Given the description of an element on the screen output the (x, y) to click on. 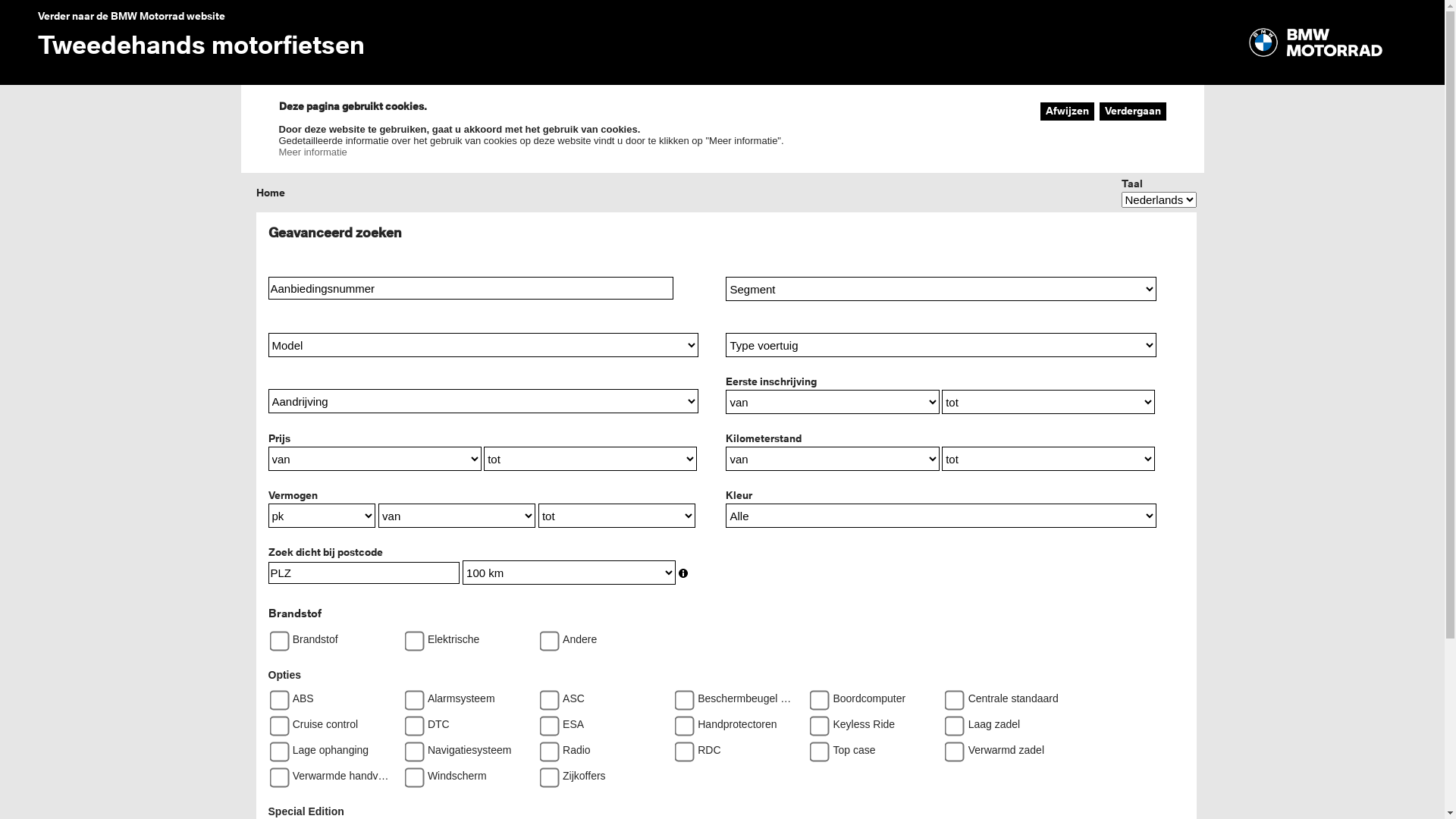
Home Element type: text (270, 192)
Brandstof Element type: hover (274, 635)
Zijkoffers Element type: hover (544, 772)
DTC Element type: hover (409, 720)
Alarmsysteem Element type: hover (409, 694)
Afwijzen Element type: text (1067, 111)
Verwarmde handvaten Element type: hover (274, 772)
Radio Element type: hover (544, 746)
Verdergaan Element type: text (1132, 111)
Centrale standaard Element type: hover (949, 694)
Windscherm Element type: hover (409, 772)
Andere Element type: hover (544, 635)
Verwarmd zadel Element type: hover (949, 746)
Laag zadel Element type: hover (949, 720)
ASC Element type: hover (544, 694)
Keyless Ride Element type: hover (814, 720)
ESA Element type: hover (544, 720)
Handprotectoren Element type: hover (679, 720)
Meer informatie Element type: text (313, 151)
Top case Element type: hover (814, 746)
Beschermbeugel motorblok Element type: hover (679, 694)
Boordcomputer Element type: hover (814, 694)
Verder naar de BMW Motorrad website Element type: text (131, 15)
ABS Element type: hover (274, 694)
Navigatiesysteem Element type: hover (409, 746)
Lage ophanging Element type: hover (274, 746)
RDC Element type: hover (679, 746)
Elektrische Element type: hover (409, 635)
Cruise control Element type: hover (274, 720)
